Given the description of an element on the screen output the (x, y) to click on. 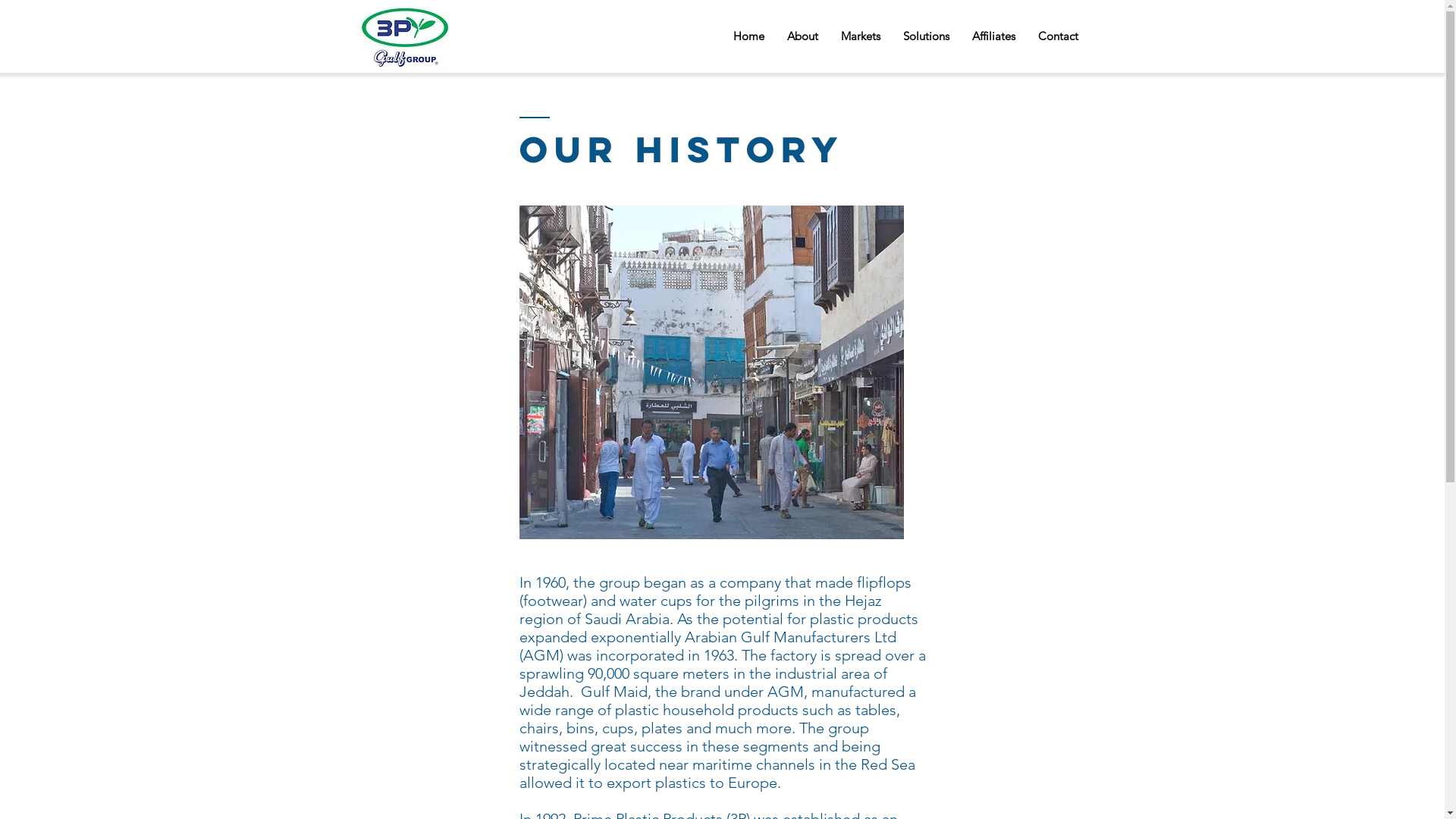
Affiliates Element type: text (993, 36)
Home Element type: text (748, 36)
About Element type: text (801, 36)
Markets Element type: text (860, 36)
Contact Element type: text (1057, 36)
Solutions Element type: text (925, 36)
